Given the description of an element on the screen output the (x, y) to click on. 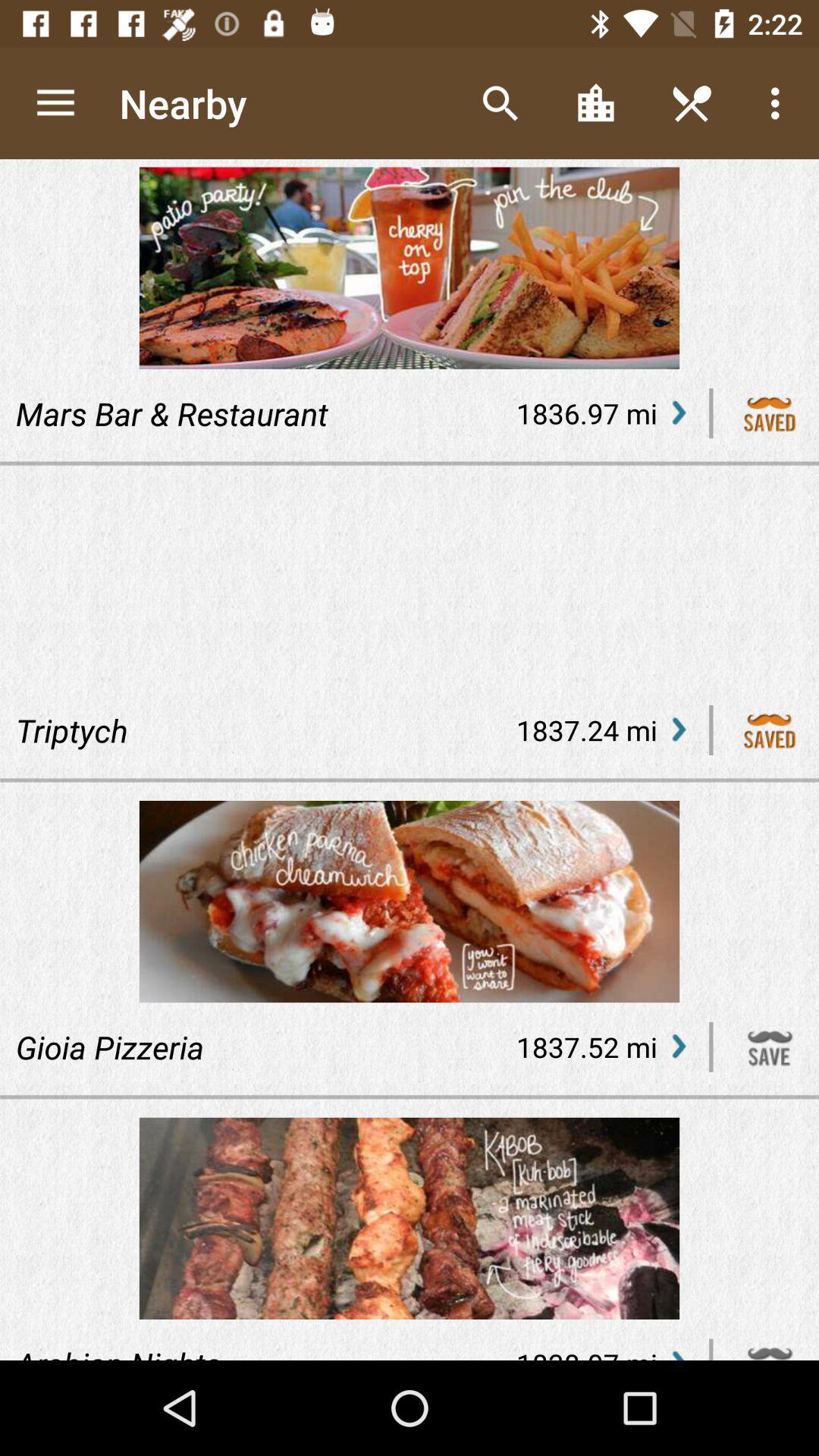
save the suggestion (770, 729)
